Given the description of an element on the screen output the (x, y) to click on. 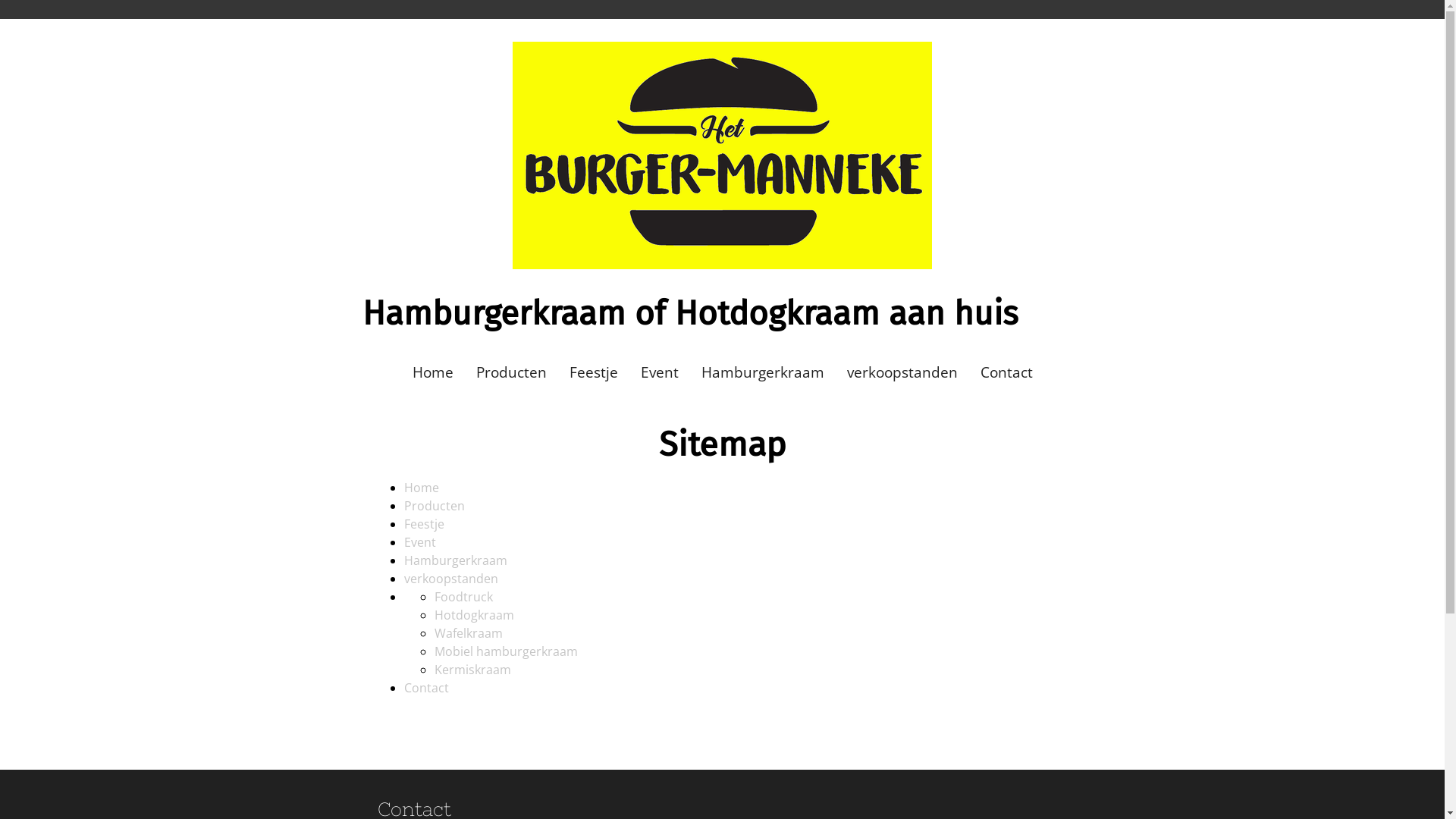
Producten Element type: text (433, 505)
Hamburgerkraam Element type: text (454, 560)
Kermiskraam Element type: text (471, 669)
Feestje Element type: text (423, 523)
Wafelkraam Element type: text (467, 632)
Home Element type: text (432, 372)
Contact Element type: text (425, 687)
Event Element type: text (419, 541)
verkoopstanden Element type: text (902, 372)
Hotdogkraam Element type: text (473, 614)
Mobiel hamburgerkraam Element type: text (505, 651)
Feestje Element type: text (593, 372)
Event Element type: text (659, 372)
Contact Element type: text (1006, 372)
Producten Element type: text (510, 372)
Foodtruck Element type: text (462, 596)
Home Element type: text (420, 487)
Hamburgerkraam Element type: text (762, 372)
Hamburgerkraam of Hotdogkraam aan huis Element type: text (690, 319)
verkoopstanden Element type: text (450, 578)
